Given the description of an element on the screen output the (x, y) to click on. 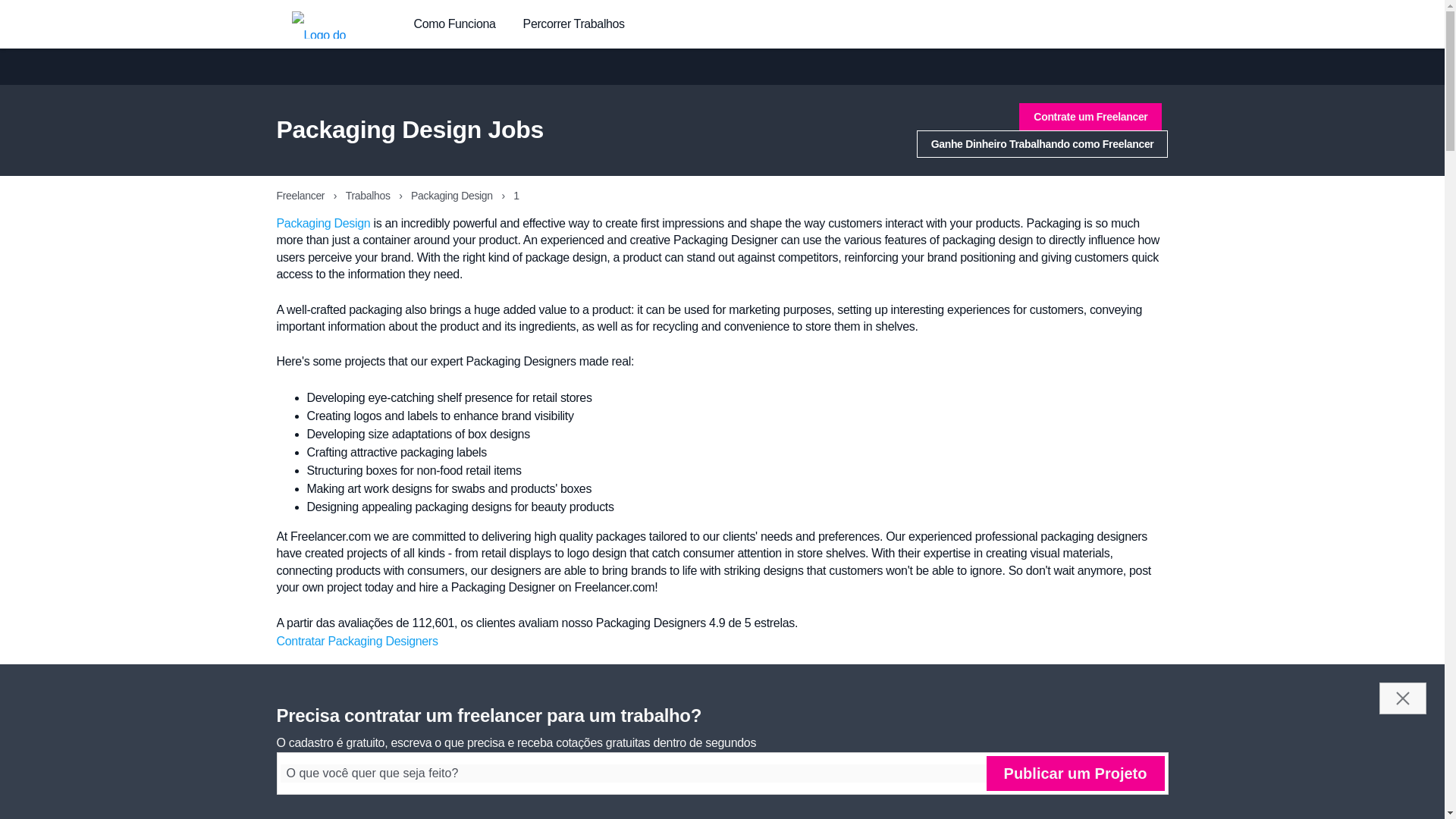
Contrate um Freelancer (1090, 116)
Trabalhos (369, 195)
1 (1086, 768)
Packaging Design (322, 223)
Como Funciona (454, 24)
Ganhe Dinheiro Trabalhando como Freelancer (1043, 144)
Packaging Design (452, 195)
Last (1128, 768)
Freelancer (301, 195)
First (1044, 768)
